Given the description of an element on the screen output the (x, y) to click on. 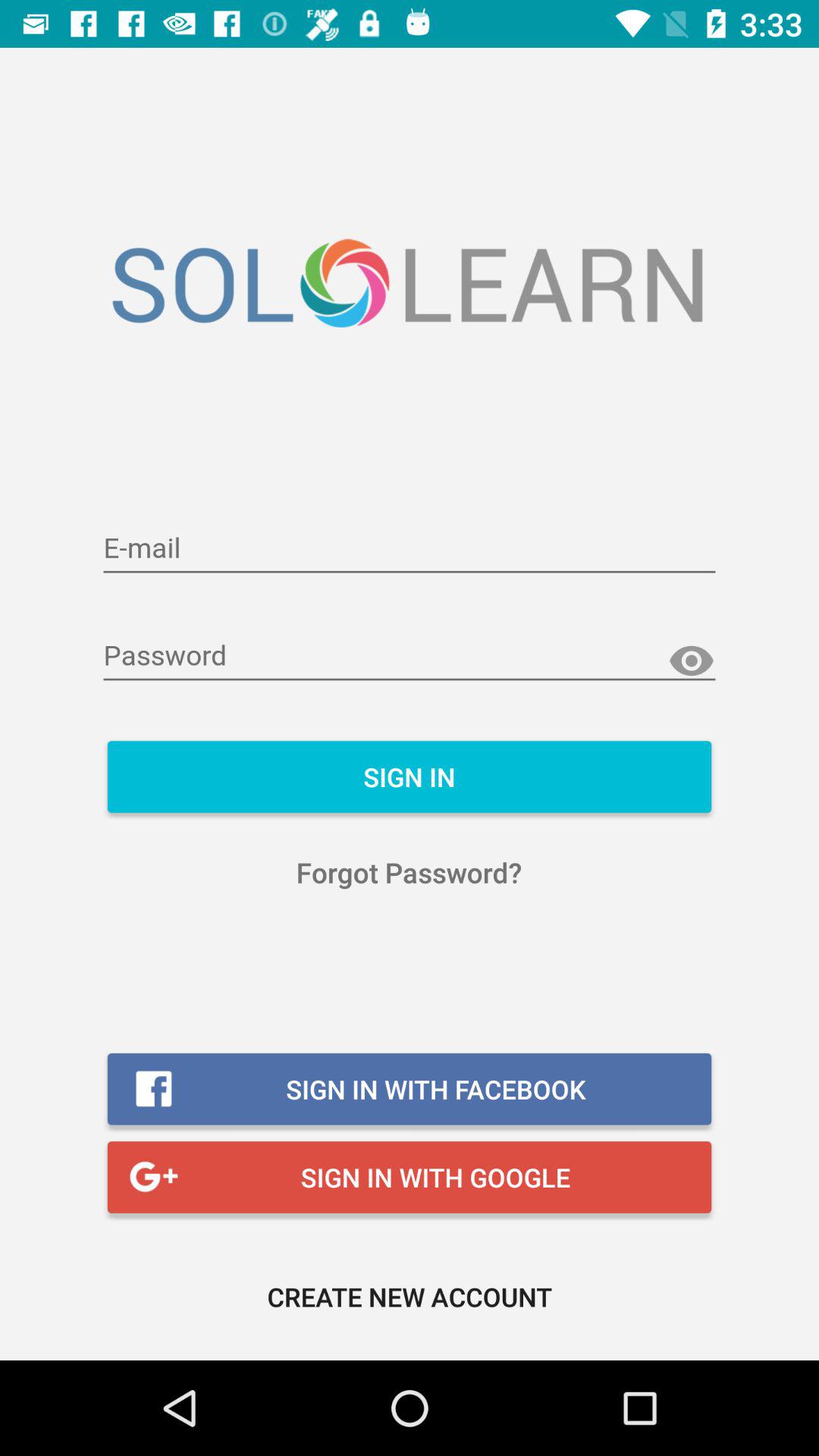
enter password (409, 656)
